Given the description of an element on the screen output the (x, y) to click on. 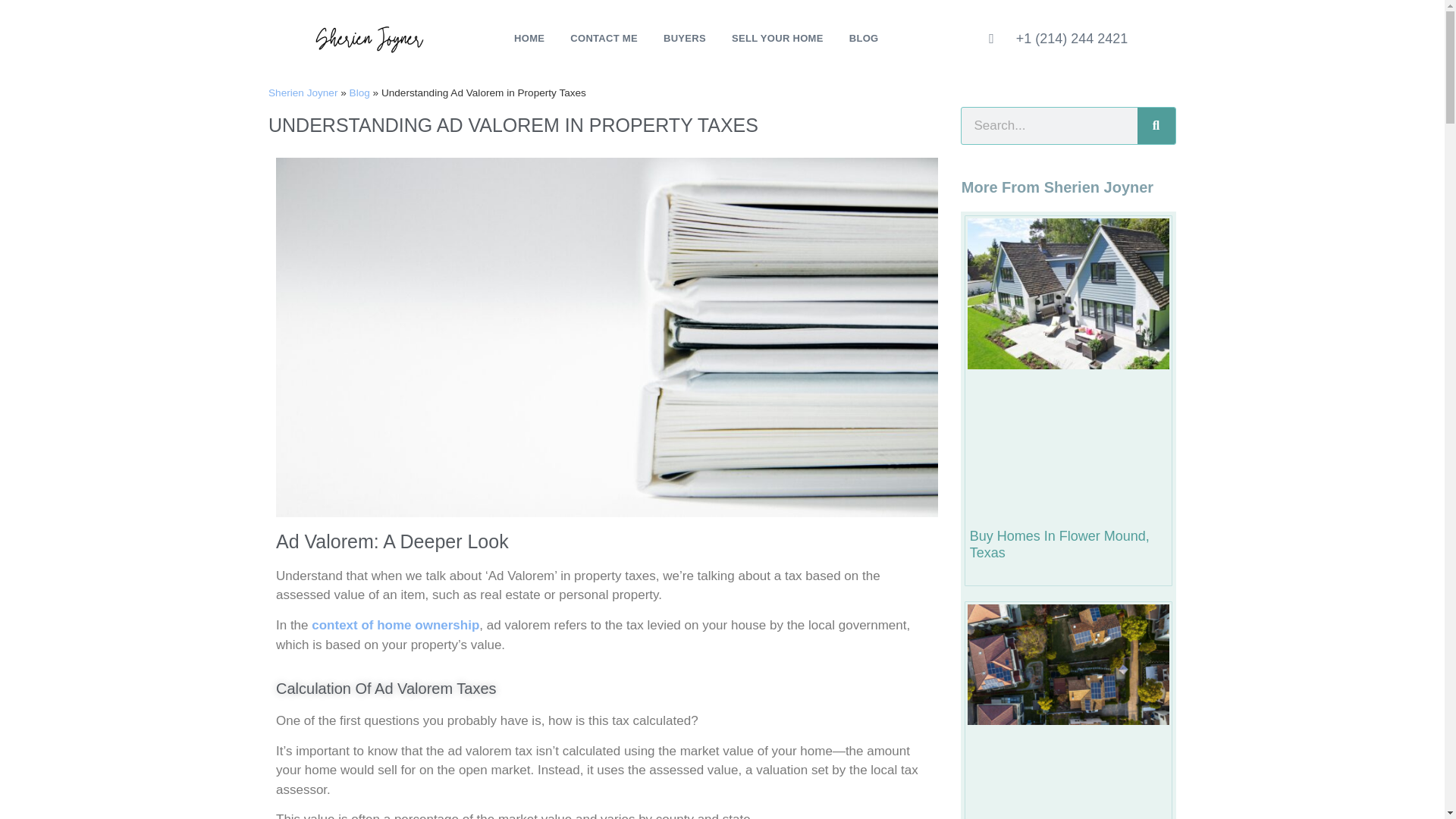
HOME (529, 38)
BUYERS (683, 38)
CONTACT ME (603, 38)
